Given the description of an element on the screen output the (x, y) to click on. 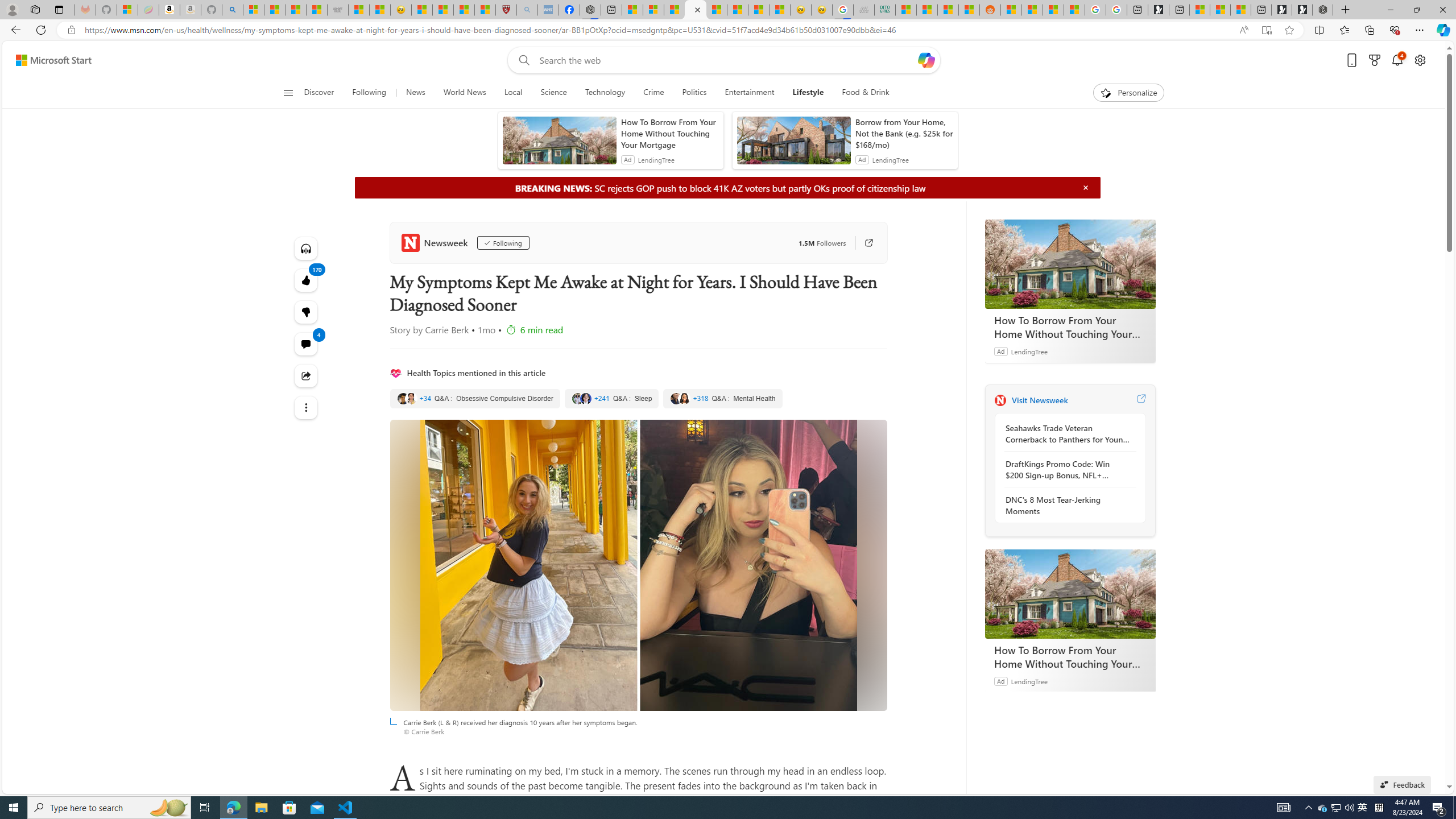
Share this story (305, 375)
